Given the description of an element on the screen output the (x, y) to click on. 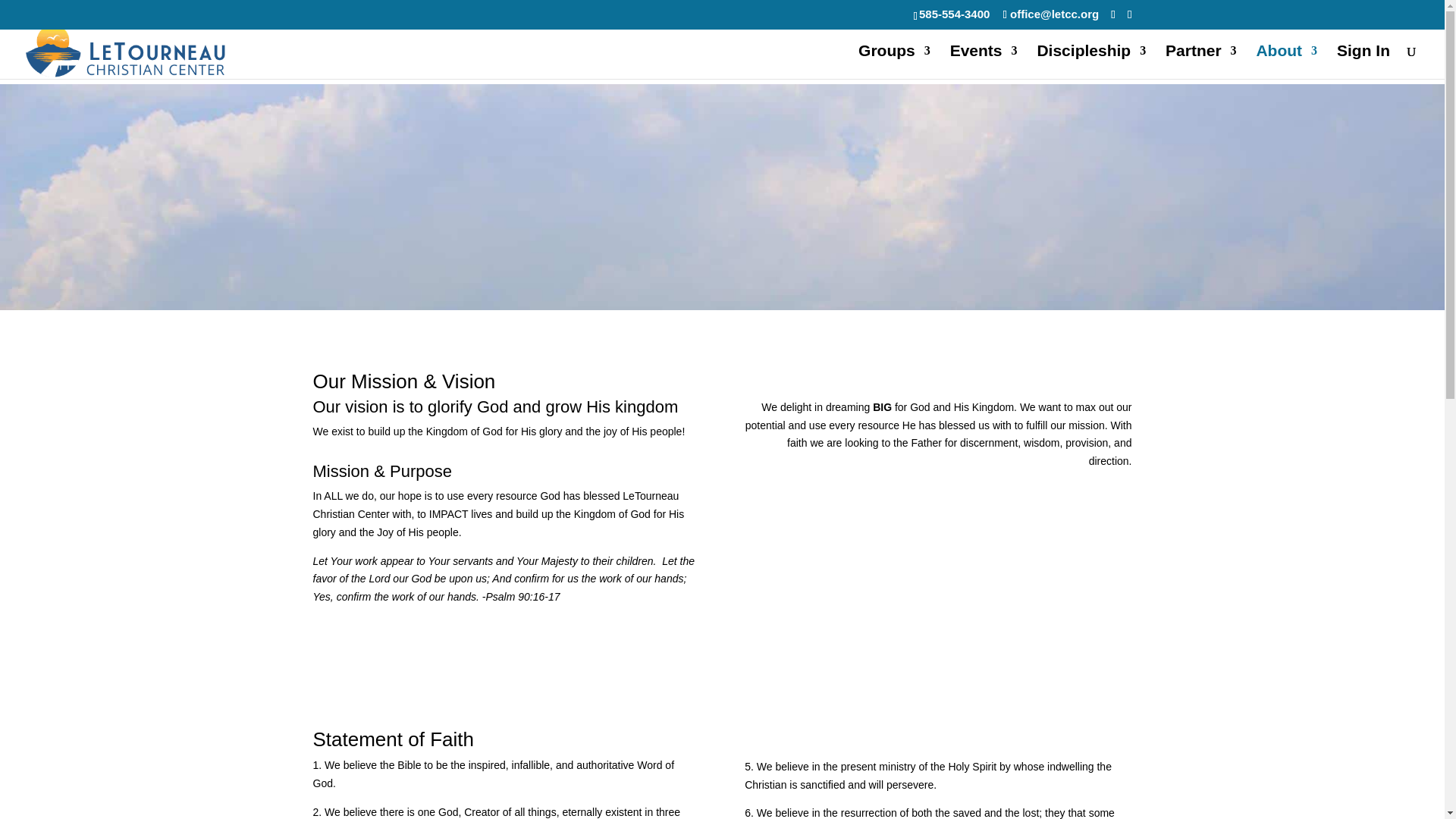
Discipleship (1090, 61)
Partner (1201, 61)
Events (983, 61)
Groups (894, 61)
About (1286, 61)
Sign In (1363, 61)
